Given the description of an element on the screen output the (x, y) to click on. 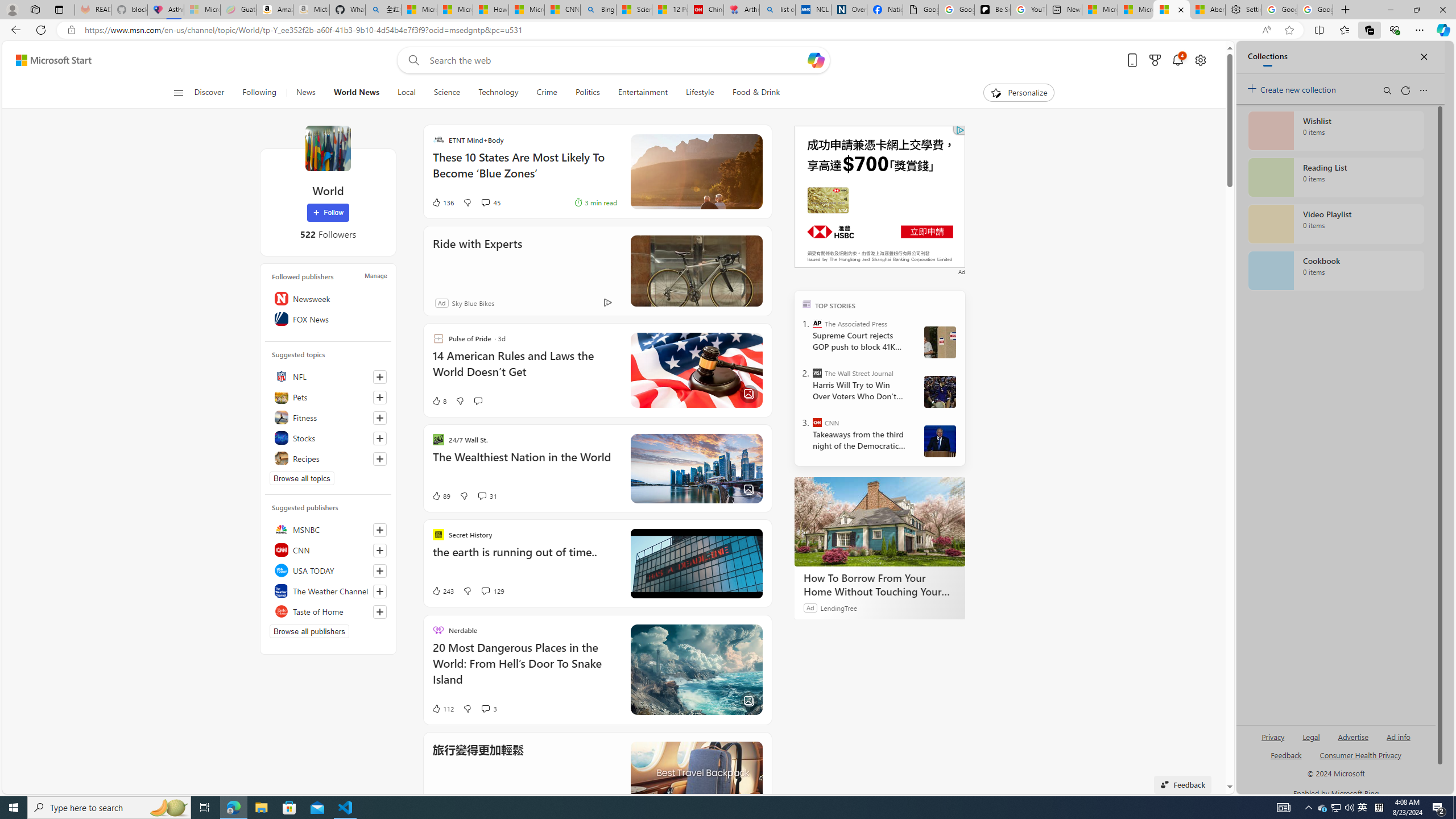
Stocks (327, 437)
Ride with Experts (696, 270)
Aberdeen, Hong Kong SAR hourly forecast | Microsoft Weather (1207, 9)
24/7 Wall St.The Wealthiest Nation in the World89 (596, 468)
View comments 3 Comment (485, 708)
NFL (327, 376)
